Given the description of an element on the screen output the (x, y) to click on. 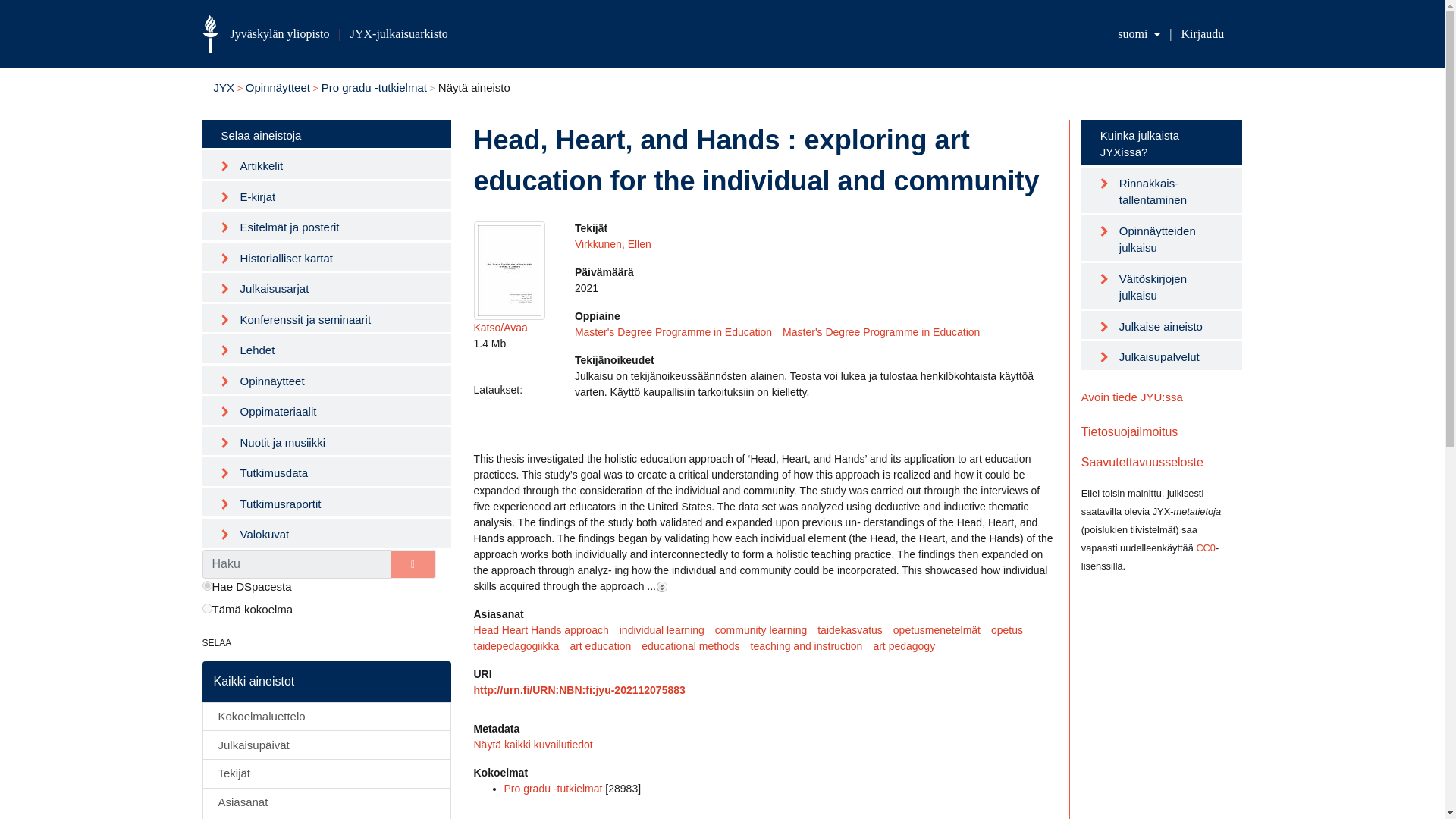
Head Heart Hands approach (545, 629)
art pedagogy (908, 646)
community learning (765, 629)
suomi  (1139, 33)
Virkkunen, Ellen (612, 244)
educational methods (695, 646)
Kirjaudu (1202, 33)
art education (605, 646)
taidekasvatus (854, 629)
Master's Degree Programme in Education (886, 331)
